Given the description of an element on the screen output the (x, y) to click on. 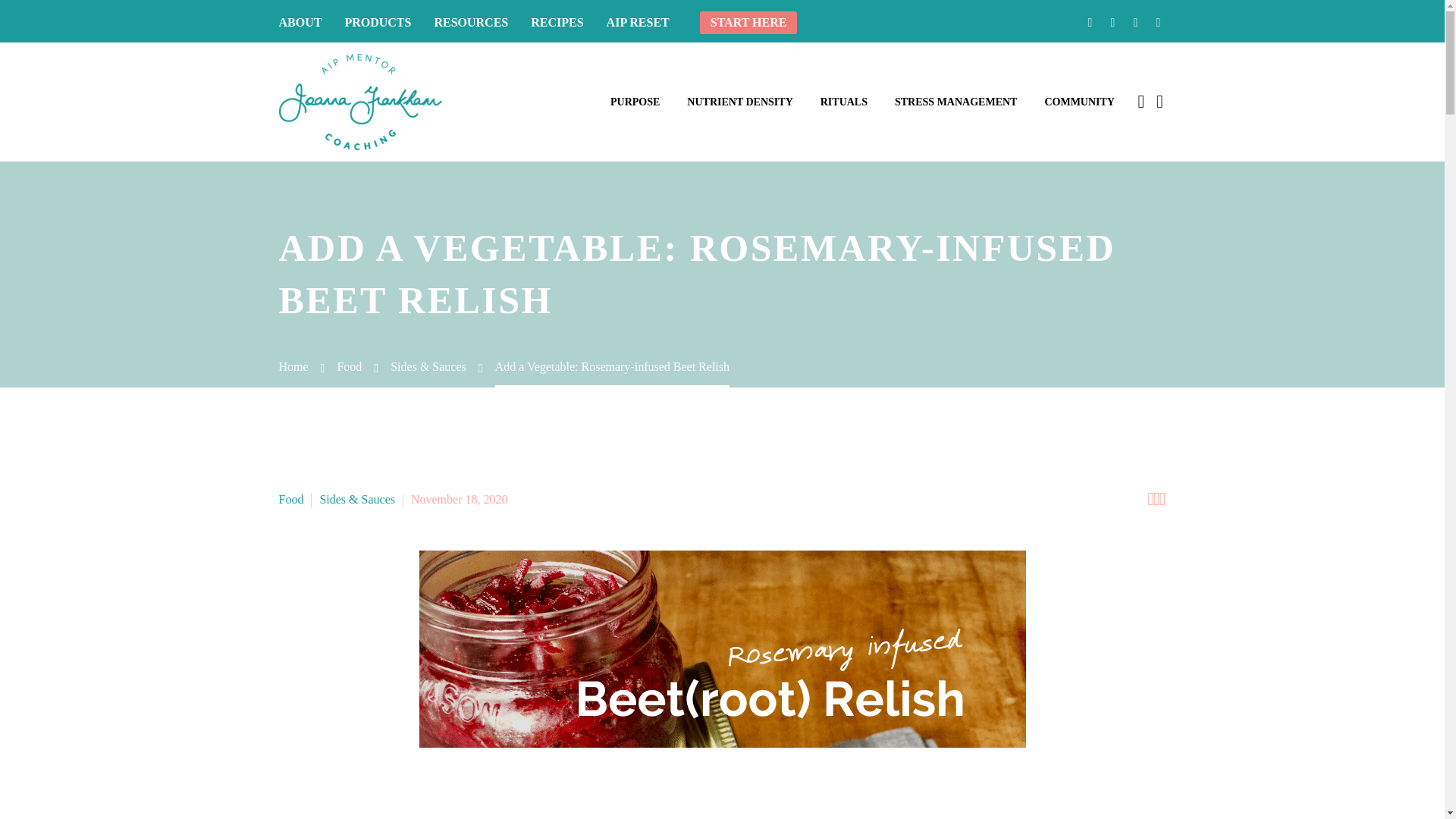
Food (348, 366)
Food (291, 499)
STRESS MANAGEMENT (955, 101)
COMMUNITY (1078, 101)
PURPOSE (634, 101)
START HERE (748, 22)
Pinterest (1135, 22)
Home (293, 366)
RECIPES (557, 22)
NUTRIENT DENSITY (739, 101)
